Given the description of an element on the screen output the (x, y) to click on. 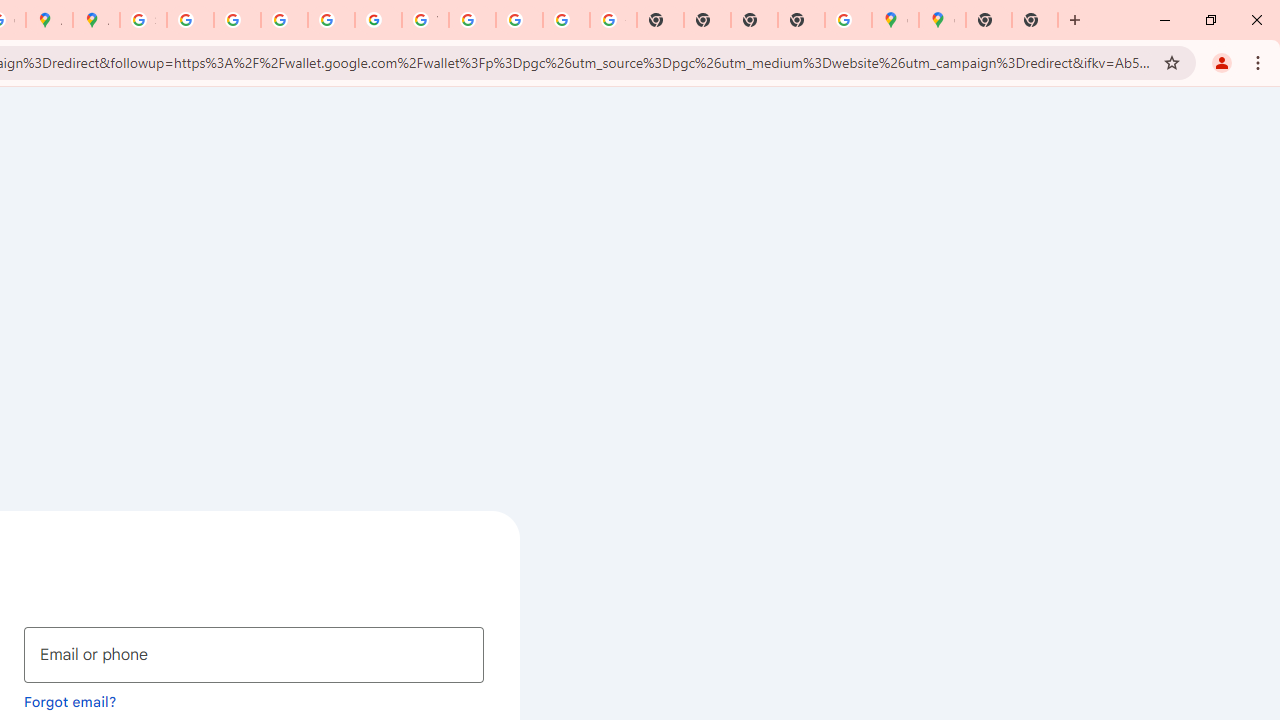
Privacy Help Center - Policies Help (284, 20)
Email or phone (253, 654)
New Tab (801, 20)
Use Google Maps in Space - Google Maps Help (848, 20)
Google Maps (895, 20)
Google Maps (942, 20)
New Tab (989, 20)
